Given the description of an element on the screen output the (x, y) to click on. 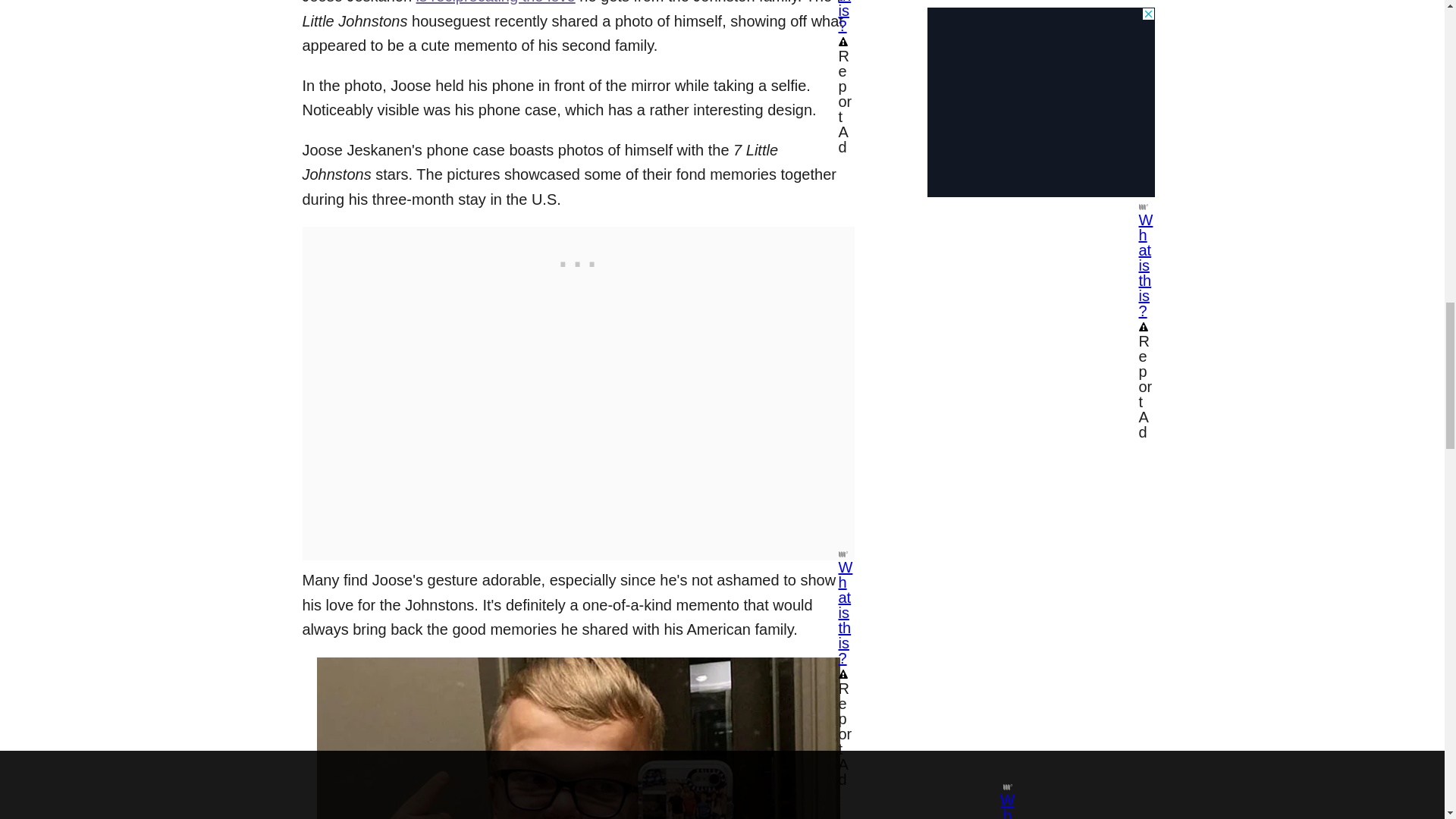
is reciprocating the love (495, 2)
3rd party ad content (577, 260)
